Given the description of an element on the screen output the (x, y) to click on. 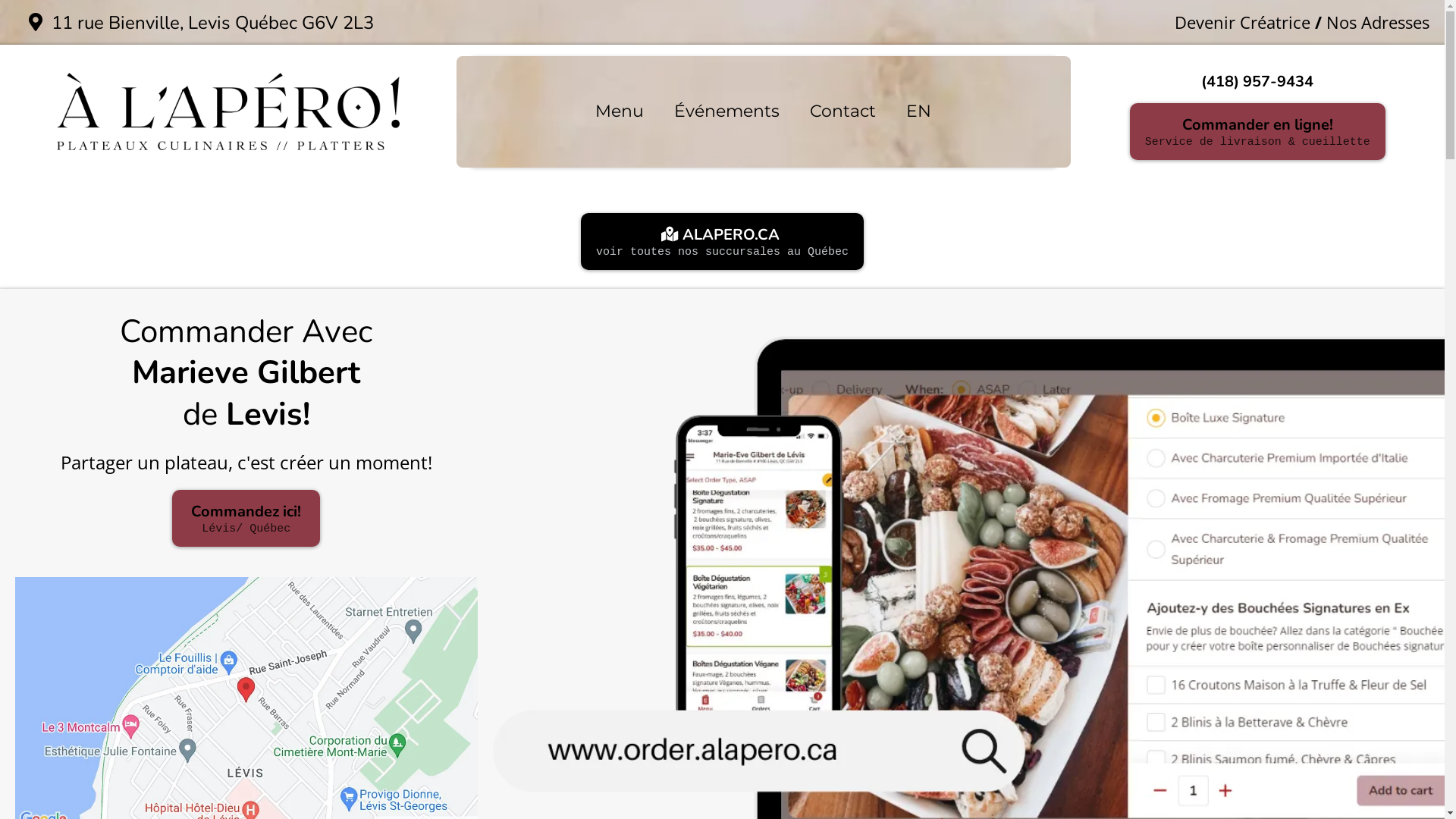
Commander en ligne!
Service de livraison & cueillette Element type: text (1257, 131)
Contact Element type: text (842, 111)
Nos Adresses Element type: text (1377, 21)
(418) 957-9434 Element type: text (1257, 81)
Menu Element type: text (619, 111)
EN Element type: text (918, 111)
